Given the description of an element on the screen output the (x, y) to click on. 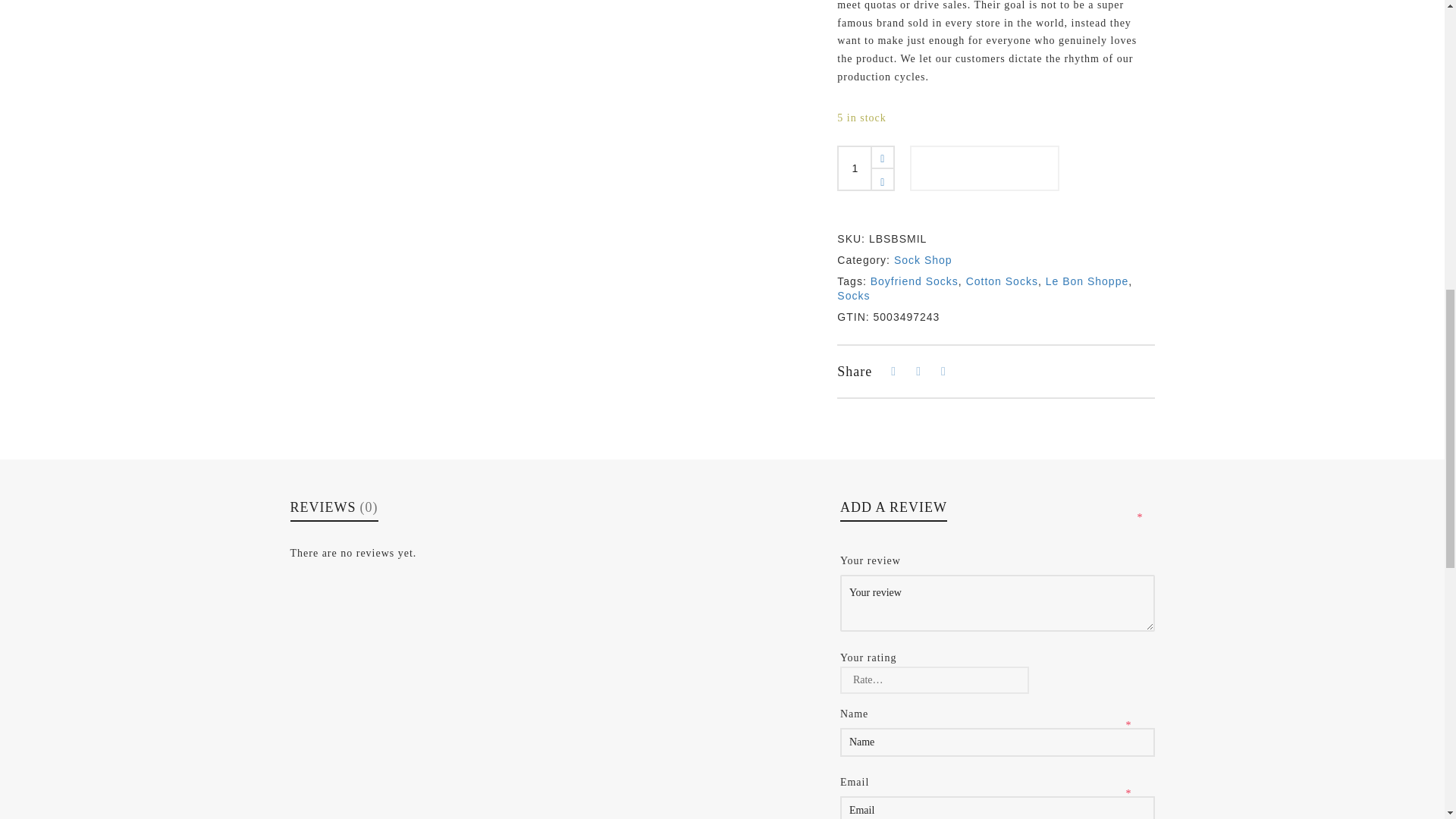
Qty (854, 167)
1 (854, 167)
